Given the description of an element on the screen output the (x, y) to click on. 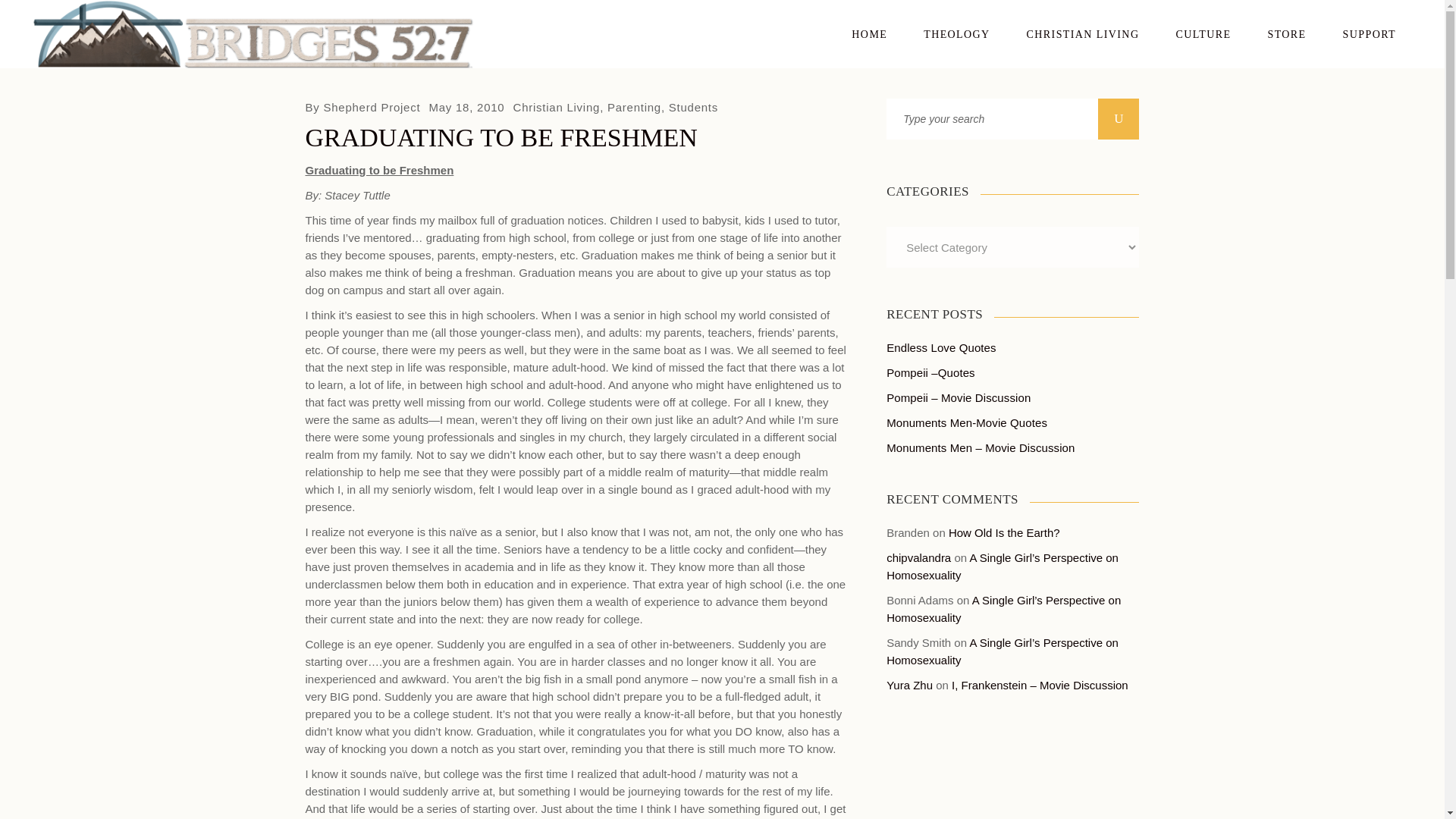
CULTURE (1203, 33)
Search for: (991, 118)
HOME (868, 33)
STORE (1286, 33)
THEOLOGY (956, 33)
CHRISTIAN LIVING (1083, 33)
SUPPORT (1368, 33)
